Given the description of an element on the screen output the (x, y) to click on. 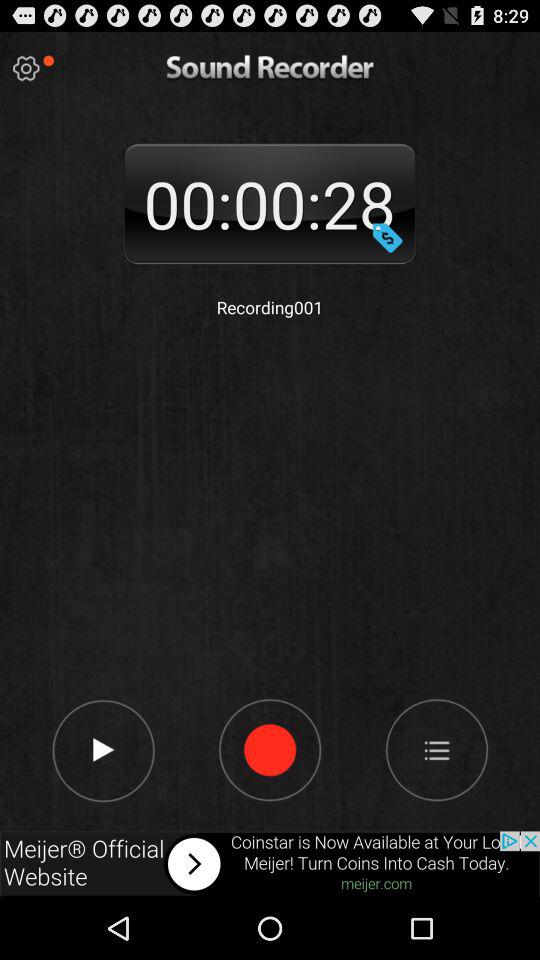
go to play page (102, 749)
